Given the description of an element on the screen output the (x, y) to click on. 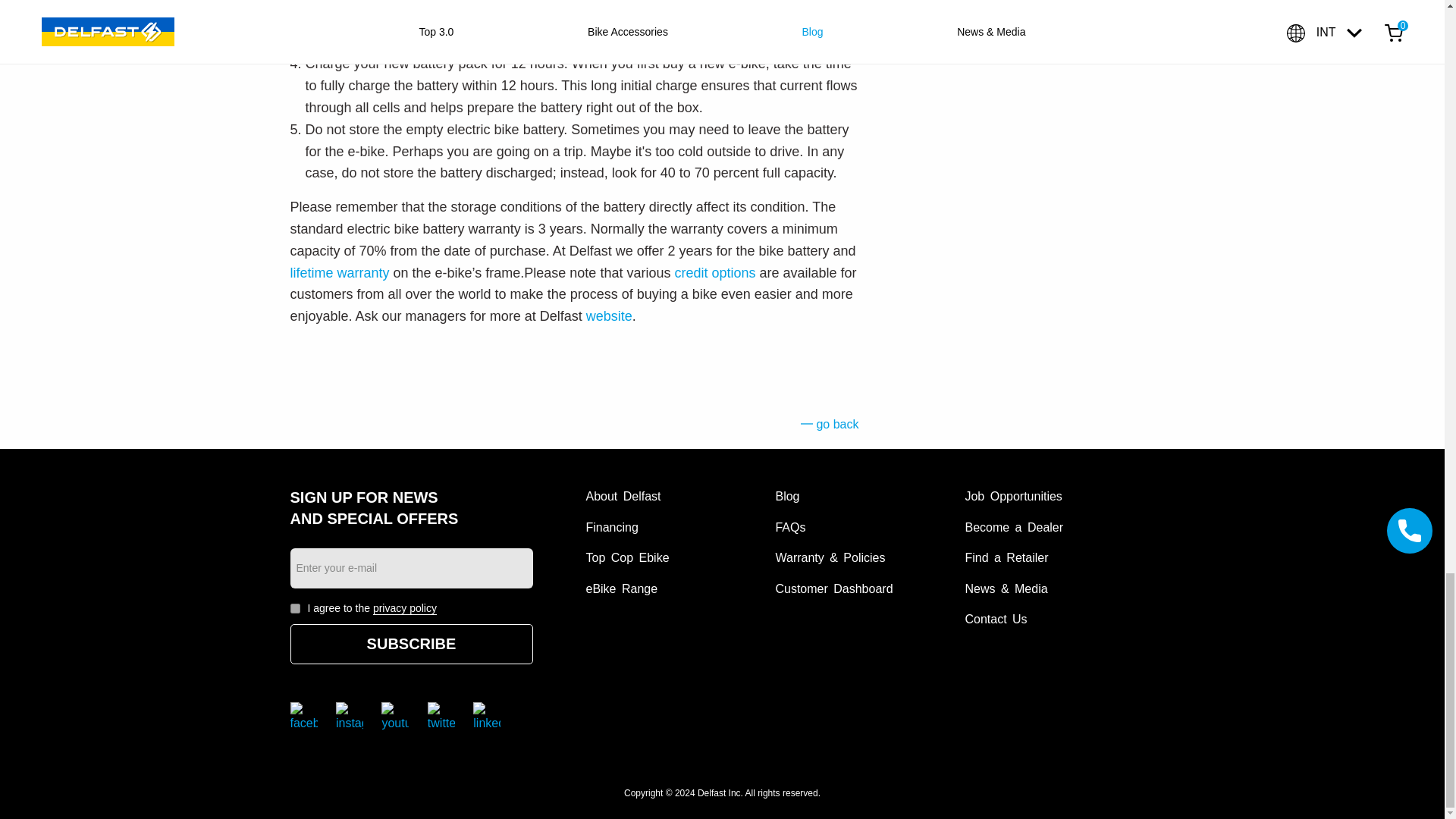
Top Cop Ebike (626, 557)
website (608, 315)
Subscribe (410, 644)
privacy policy (404, 608)
Job Opportunities (1012, 495)
Blog (786, 495)
Financing (611, 526)
eBike Range (621, 588)
credit options (714, 272)
on (294, 608)
About Delfast (623, 495)
Find a Retailer (1005, 557)
Become a Dealer (1012, 526)
FAQs (789, 526)
Subscribe (410, 644)
